Given the description of an element on the screen output the (x, y) to click on. 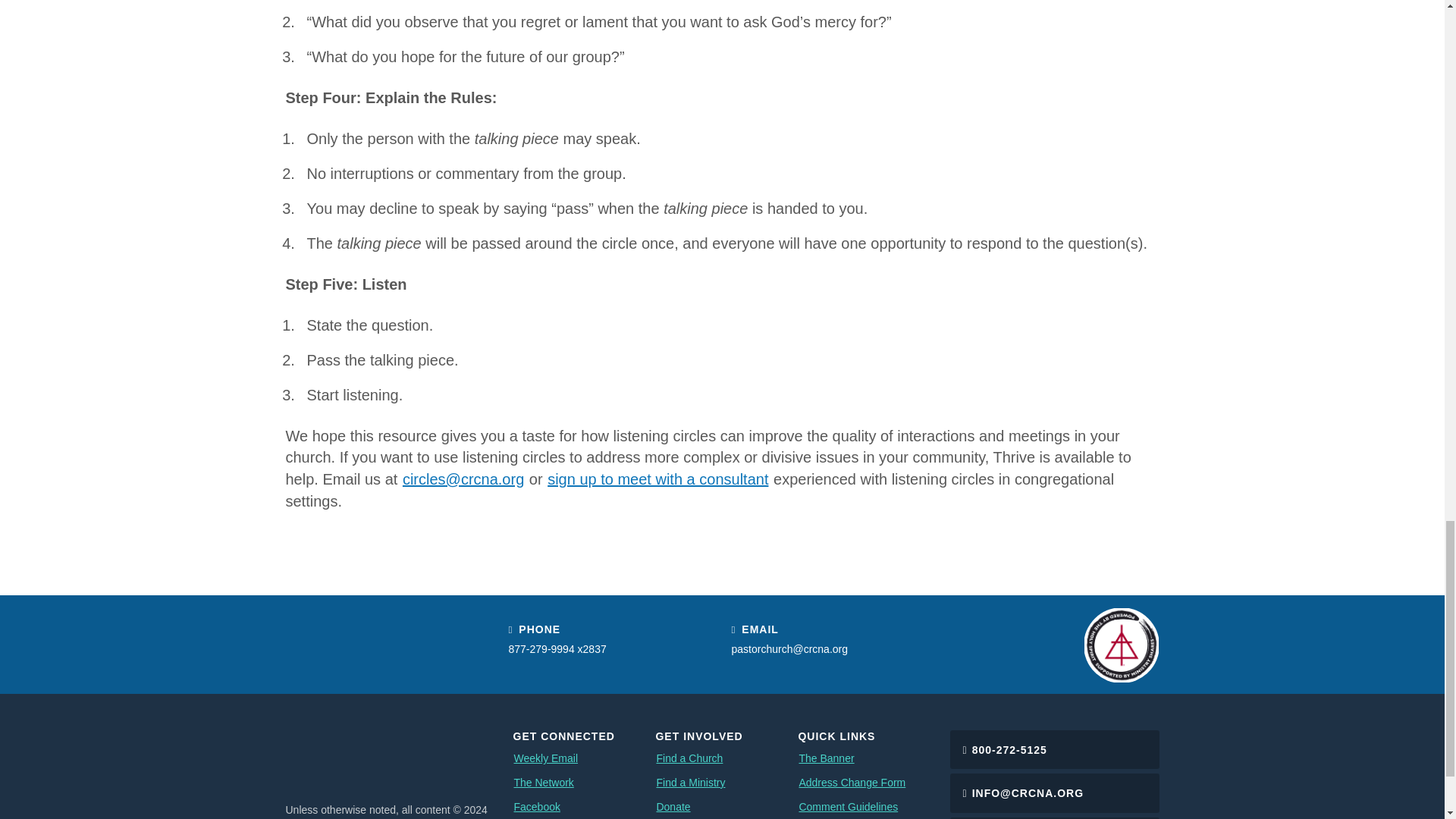
sign up to meet with a consultant (657, 478)
